Given the description of an element on the screen output the (x, y) to click on. 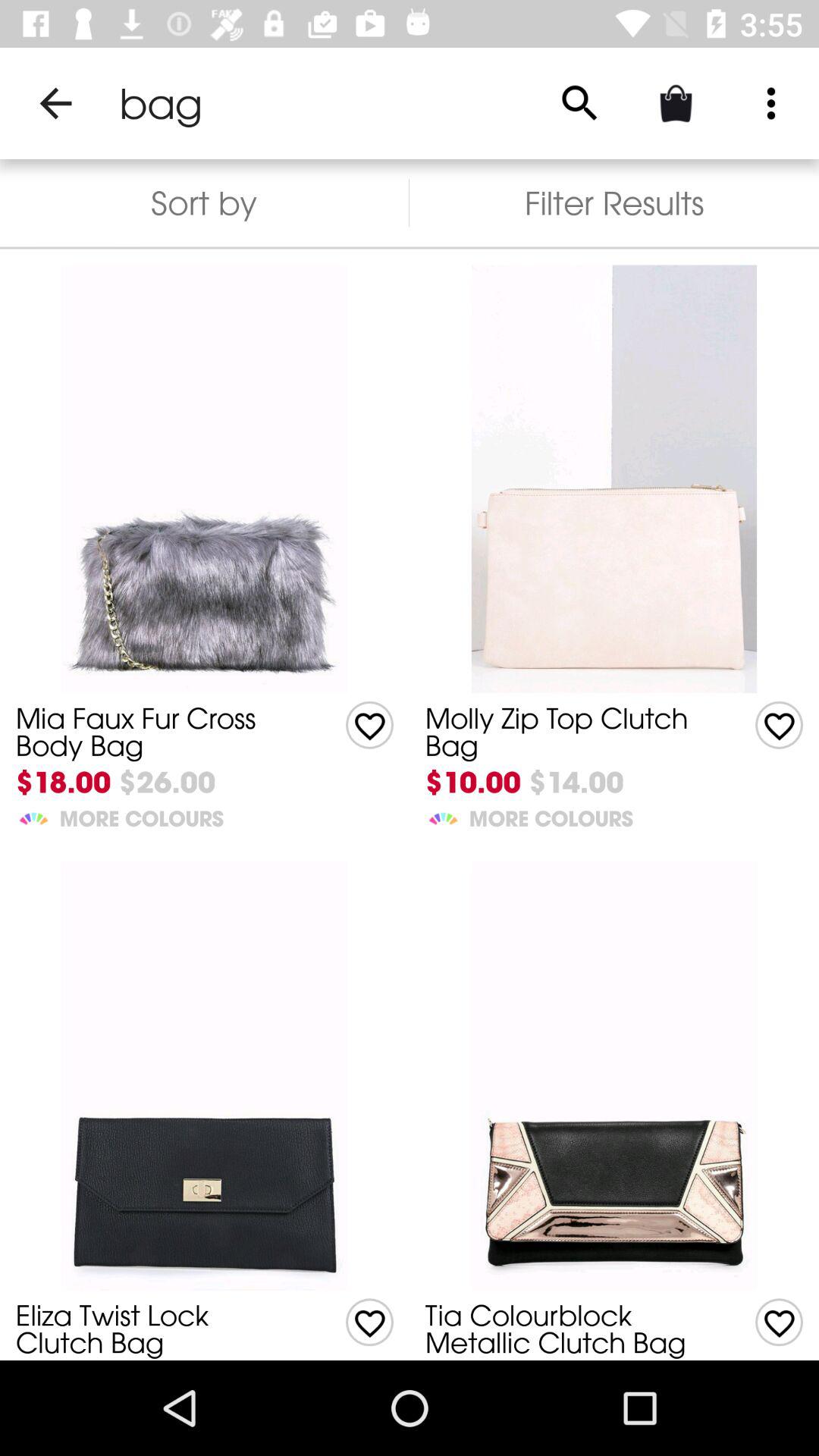
tap the item above the $18.00 icon (566, 1328)
